Given the description of an element on the screen output the (x, y) to click on. 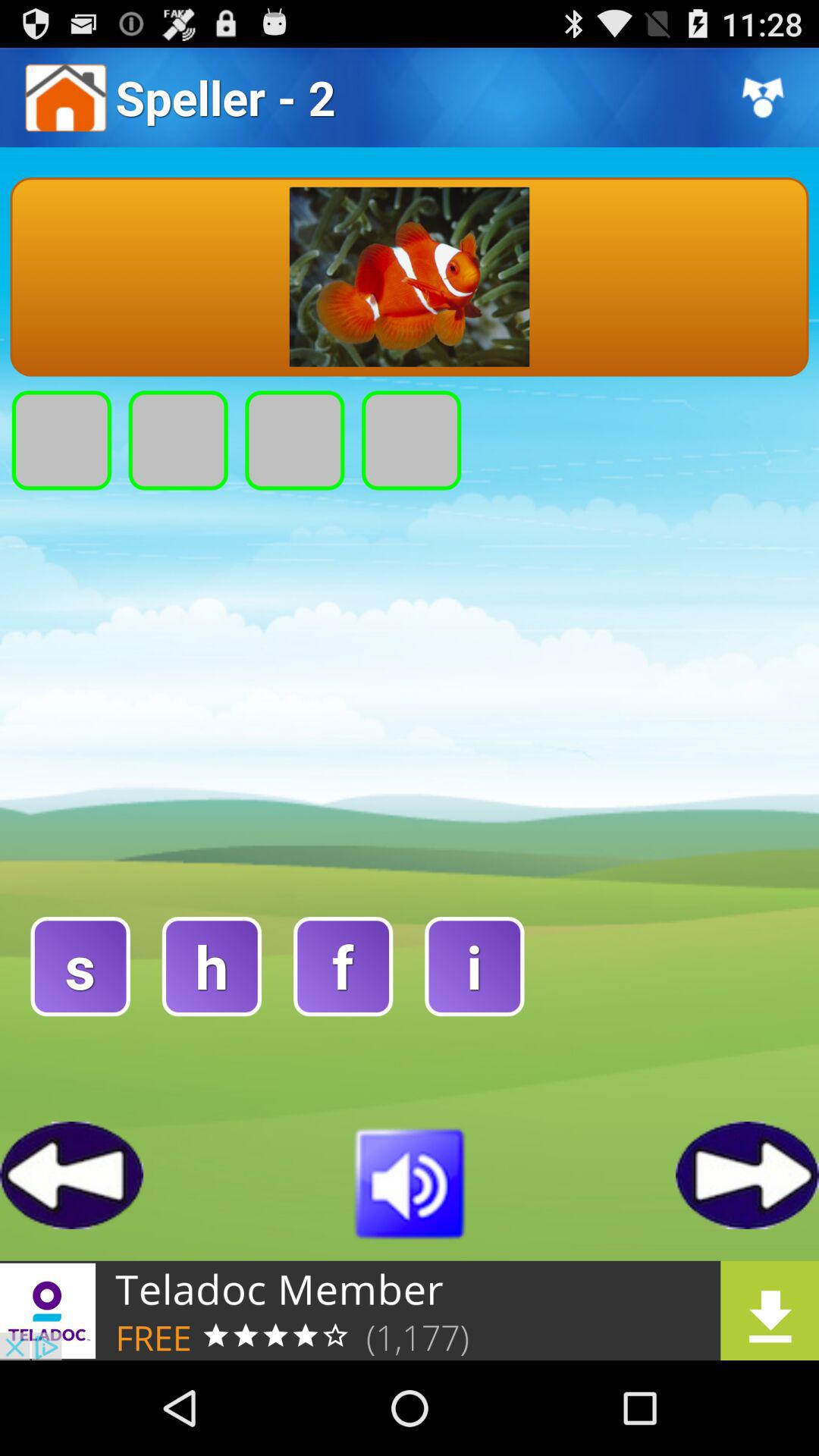
the element is a advertisement for teladoc member (409, 1310)
